Given the description of an element on the screen output the (x, y) to click on. 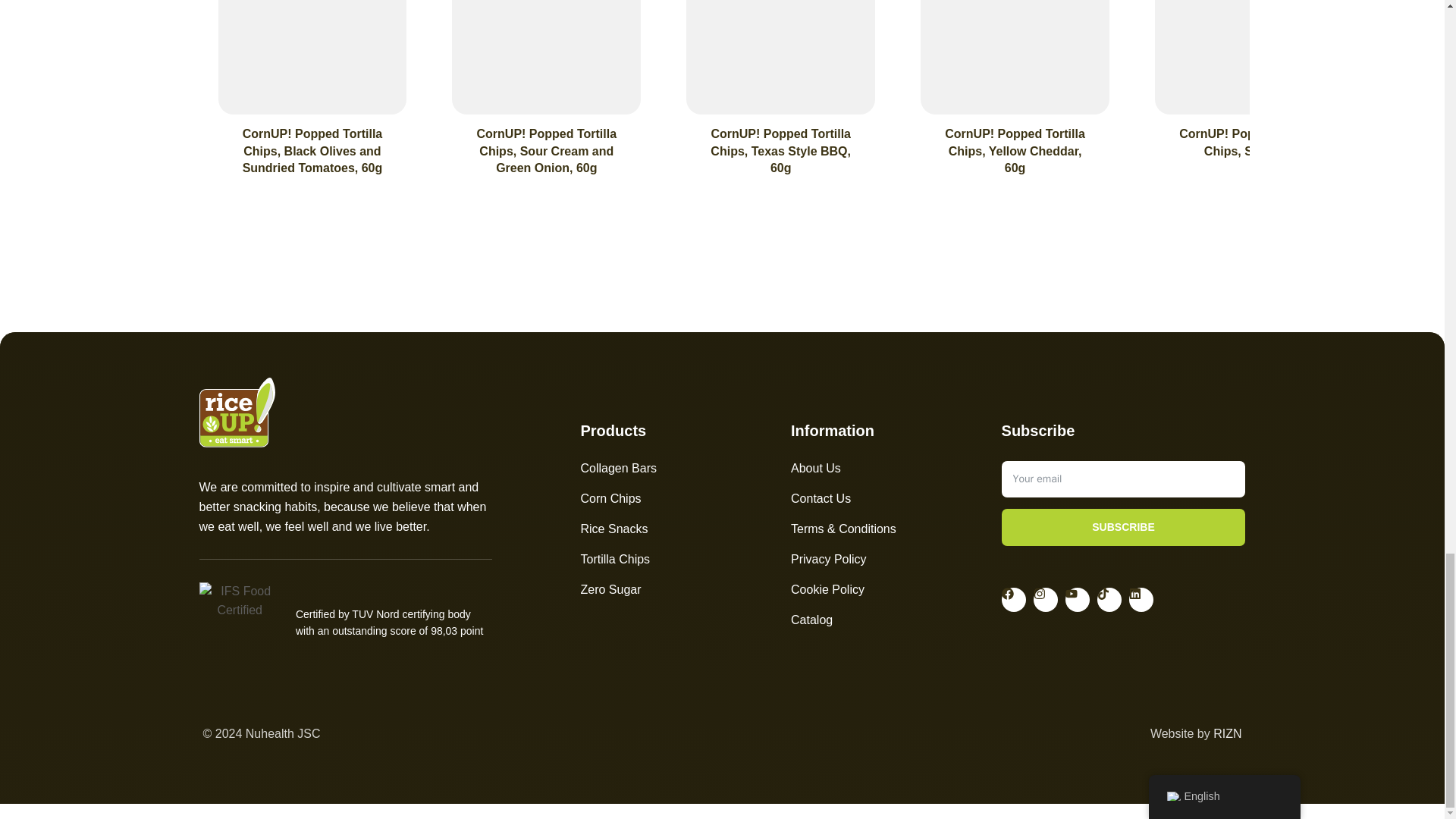
CornUP! Popped Tortilla Chips, Yellow Cheddar, 60g (1014, 150)
CornUP! Popped Tortilla Chips, Salt, 60g (1249, 142)
CornUP! Popped Tortilla Chips, Texas Style BBQ, 60g (780, 150)
